Given the description of an element on the screen output the (x, y) to click on. 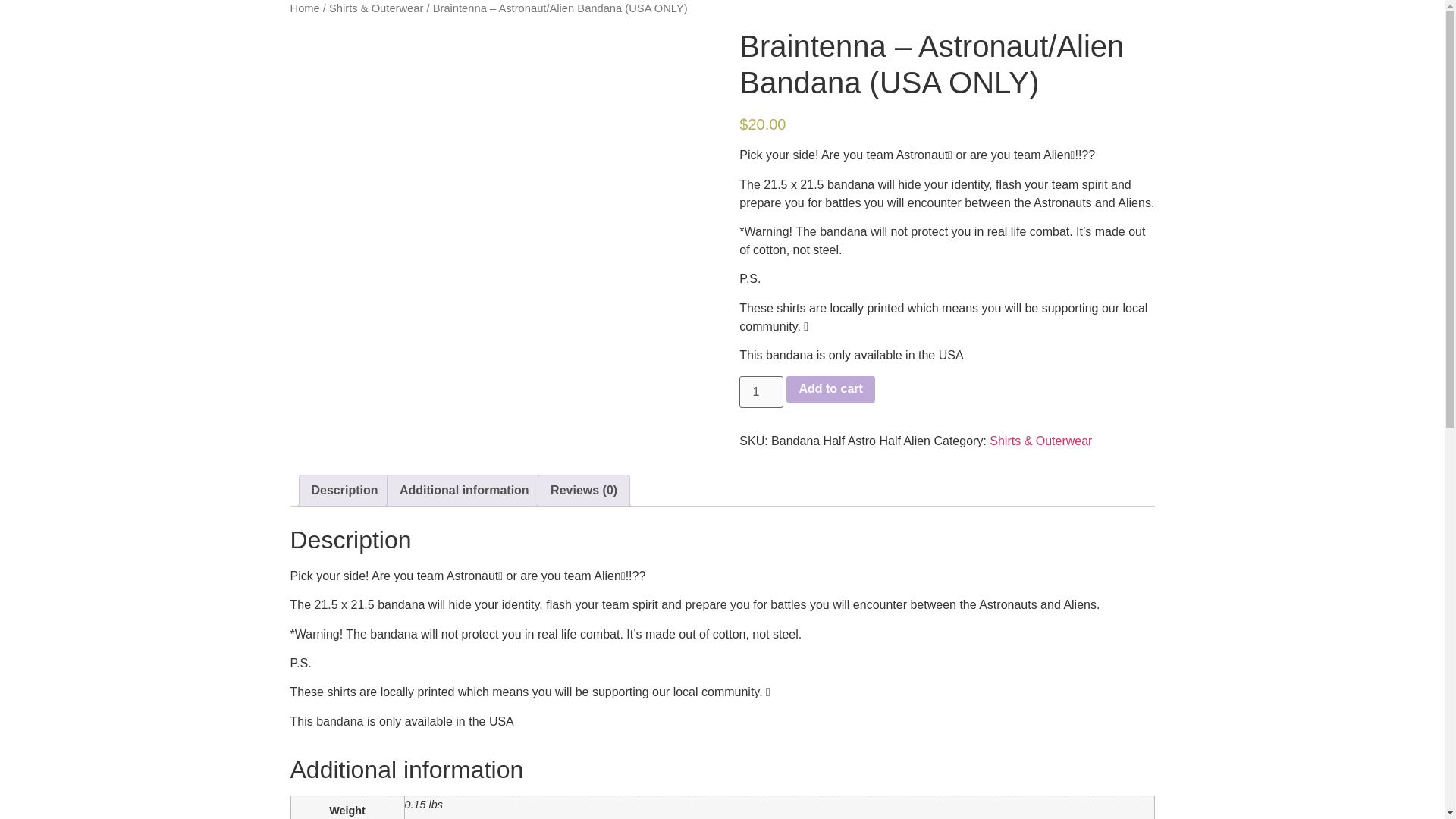
Home (303, 8)
1 (761, 391)
Add to cart (830, 389)
Additional information (463, 490)
Description (344, 490)
